Given the description of an element on the screen output the (x, y) to click on. 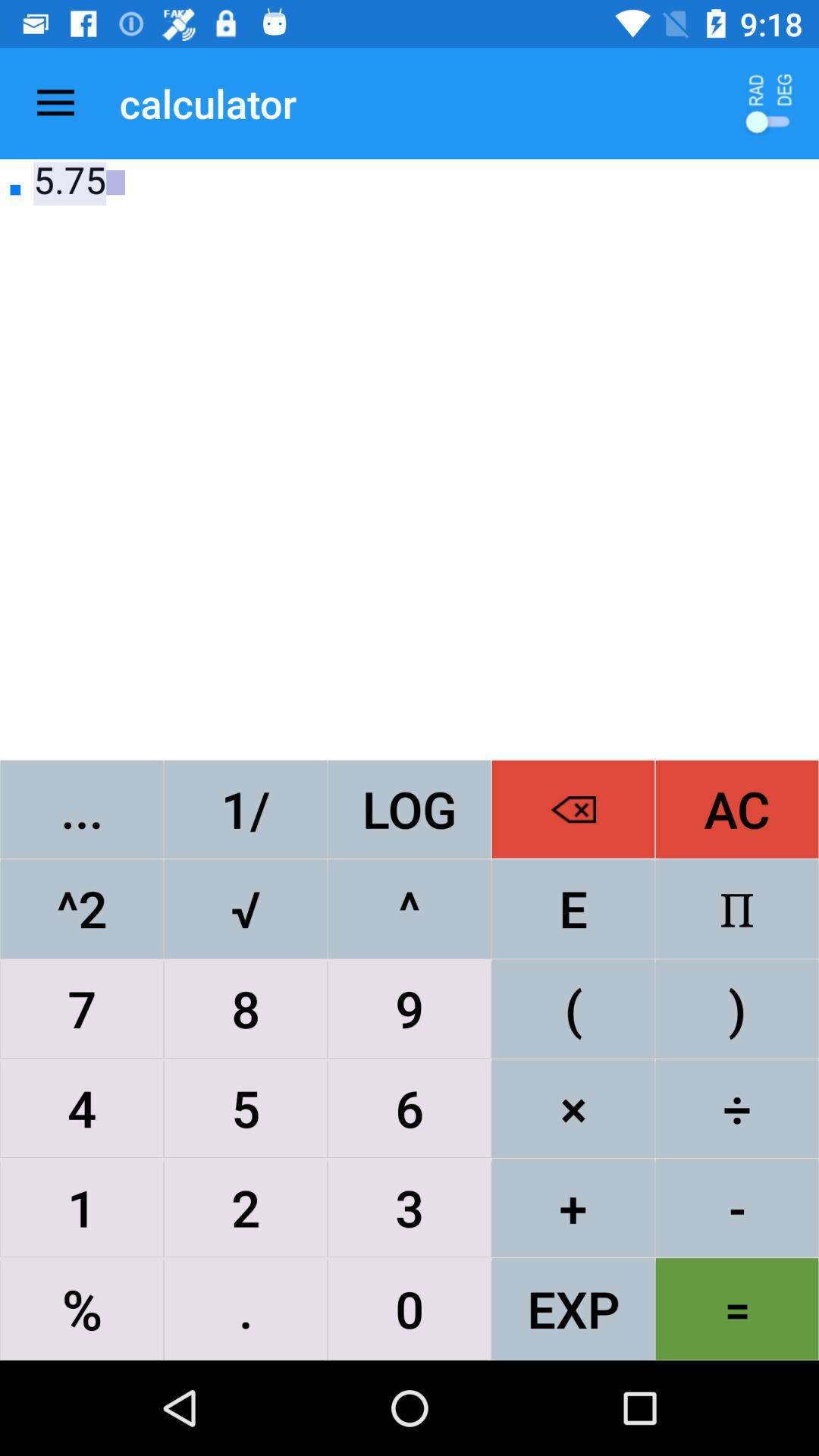
select the item to the right of the 1/ item (409, 809)
